Given the description of an element on the screen output the (x, y) to click on. 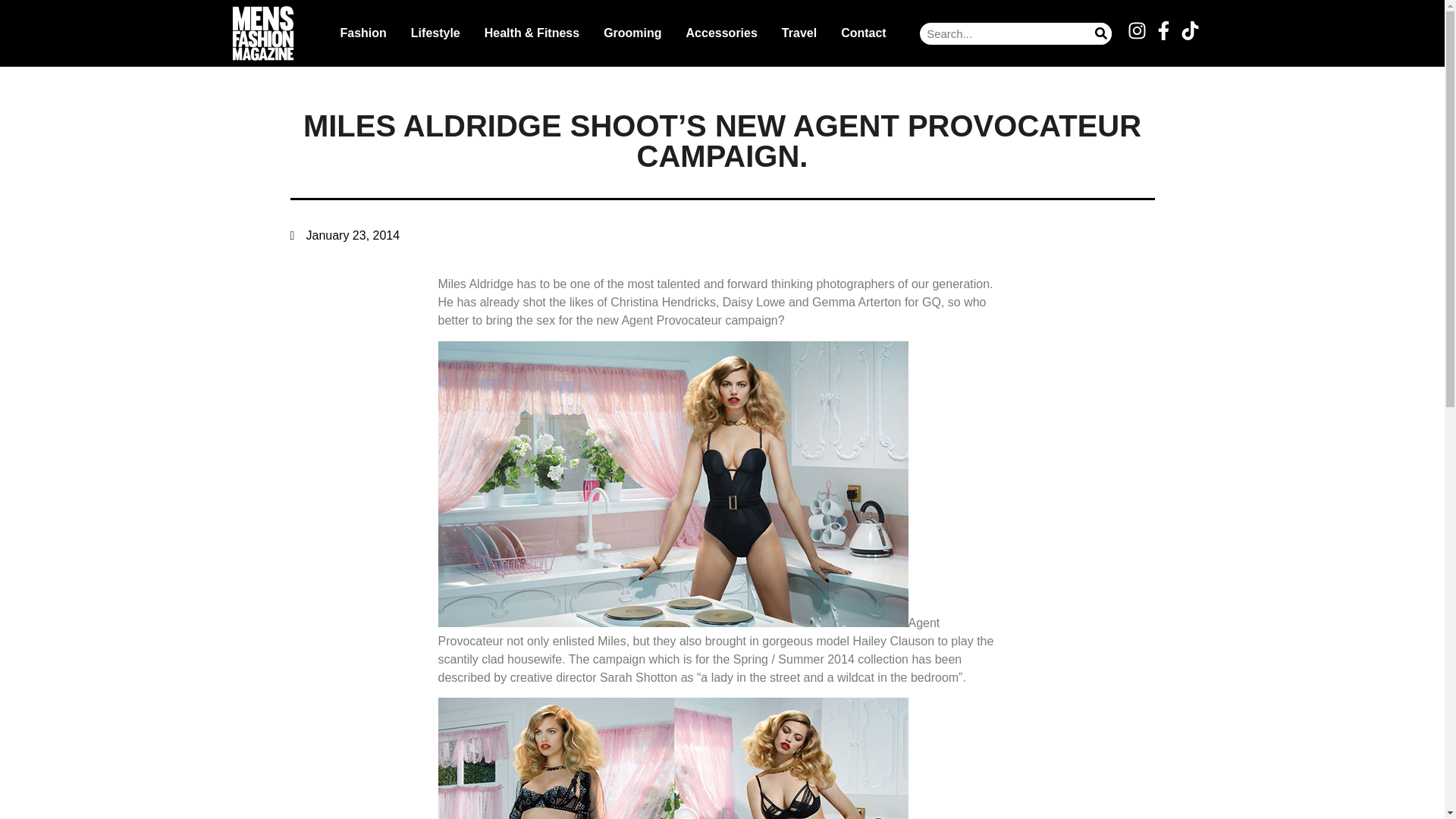
Fashion (362, 33)
Grooming (631, 33)
Travel (799, 33)
Lifestyle (434, 33)
Contact (863, 33)
Accessories (722, 33)
January 23, 2014 (343, 235)
